Given the description of an element on the screen output the (x, y) to click on. 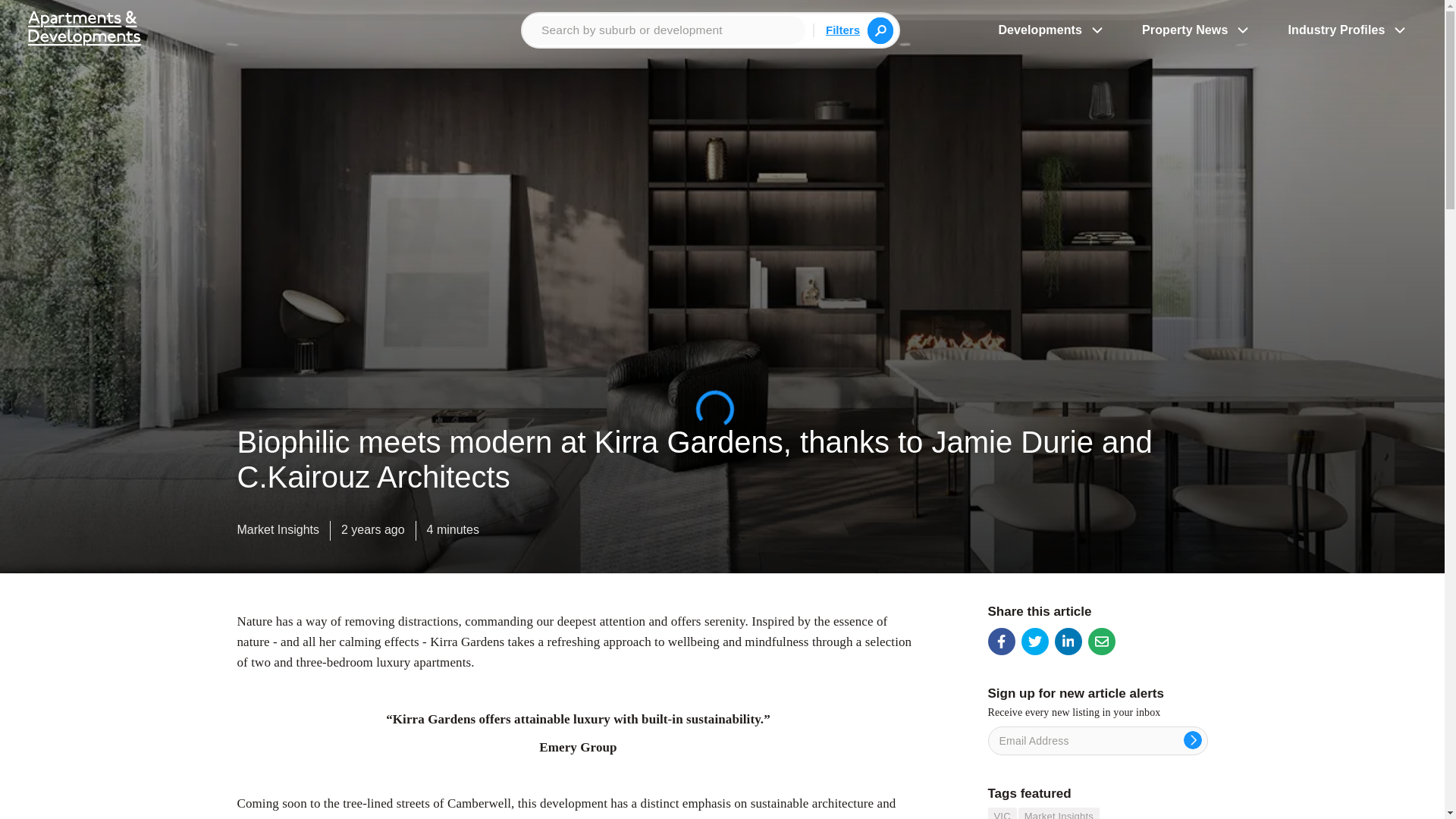
VIC (1001, 813)
Market Insights (276, 532)
Market Insights (1058, 813)
Filters (842, 29)
private appointments (619, 818)
